Given the description of an element on the screen output the (x, y) to click on. 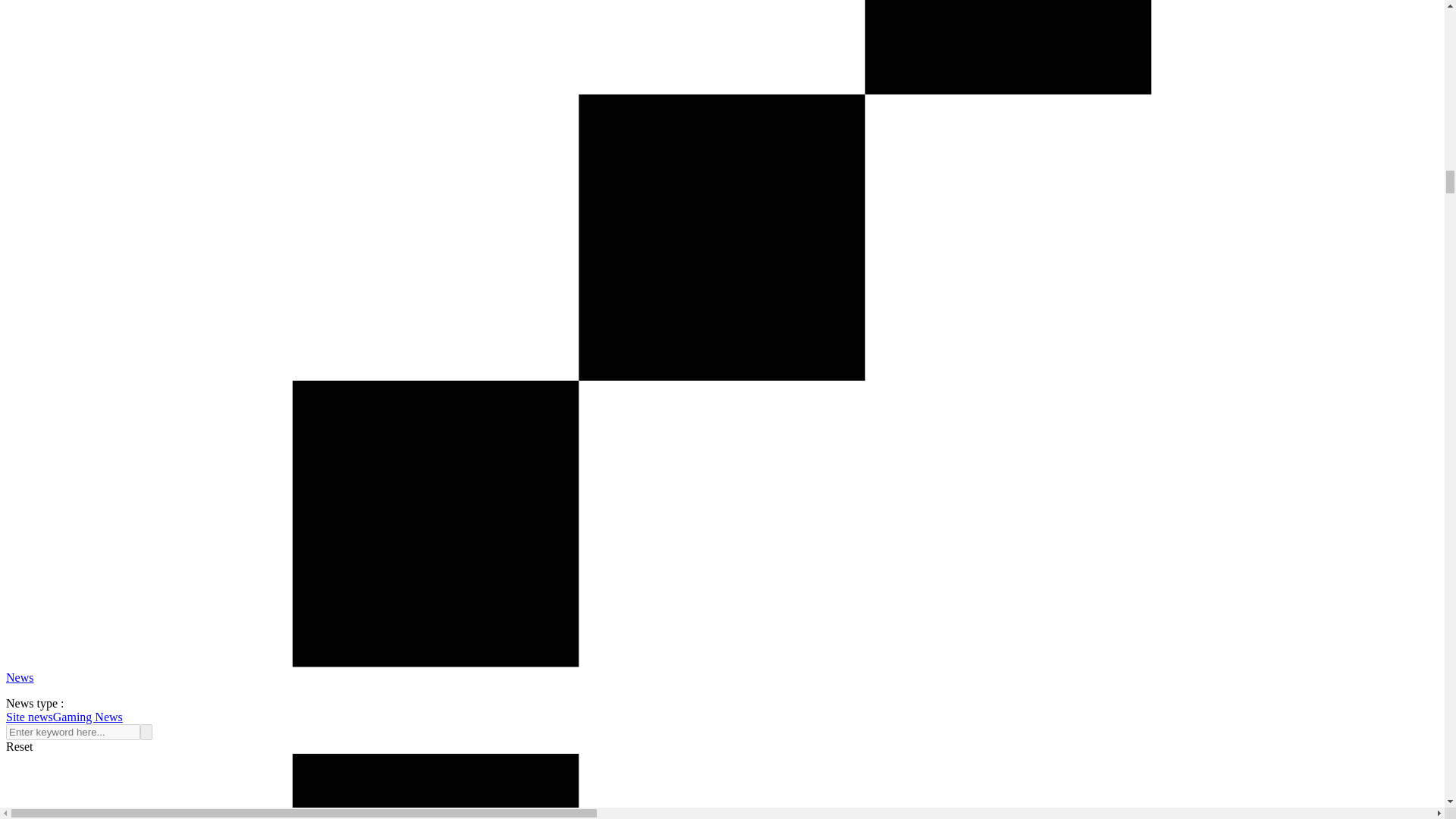
Site news (28, 716)
News (19, 676)
Gaming News (87, 716)
